Given the description of an element on the screen output the (x, y) to click on. 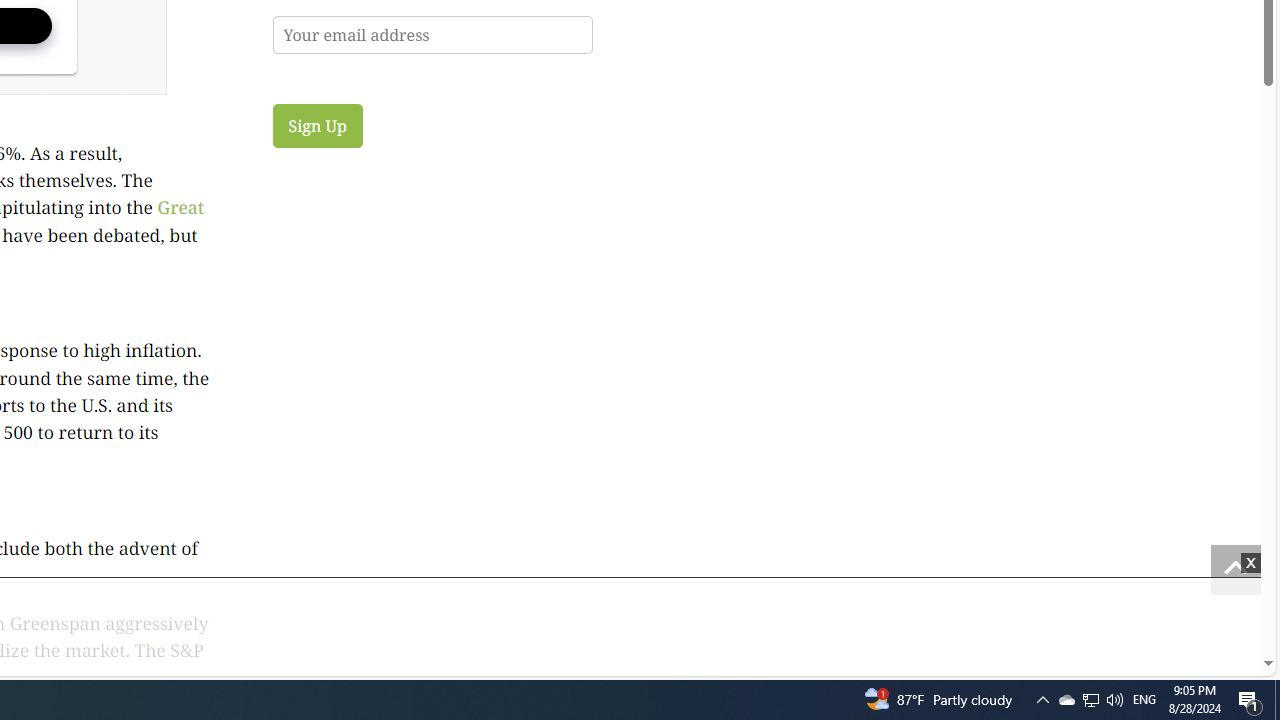
Join the 375,000+ subscribers who receive our daily email (431, 34)
Sign Up (317, 125)
